Given the description of an element on the screen output the (x, y) to click on. 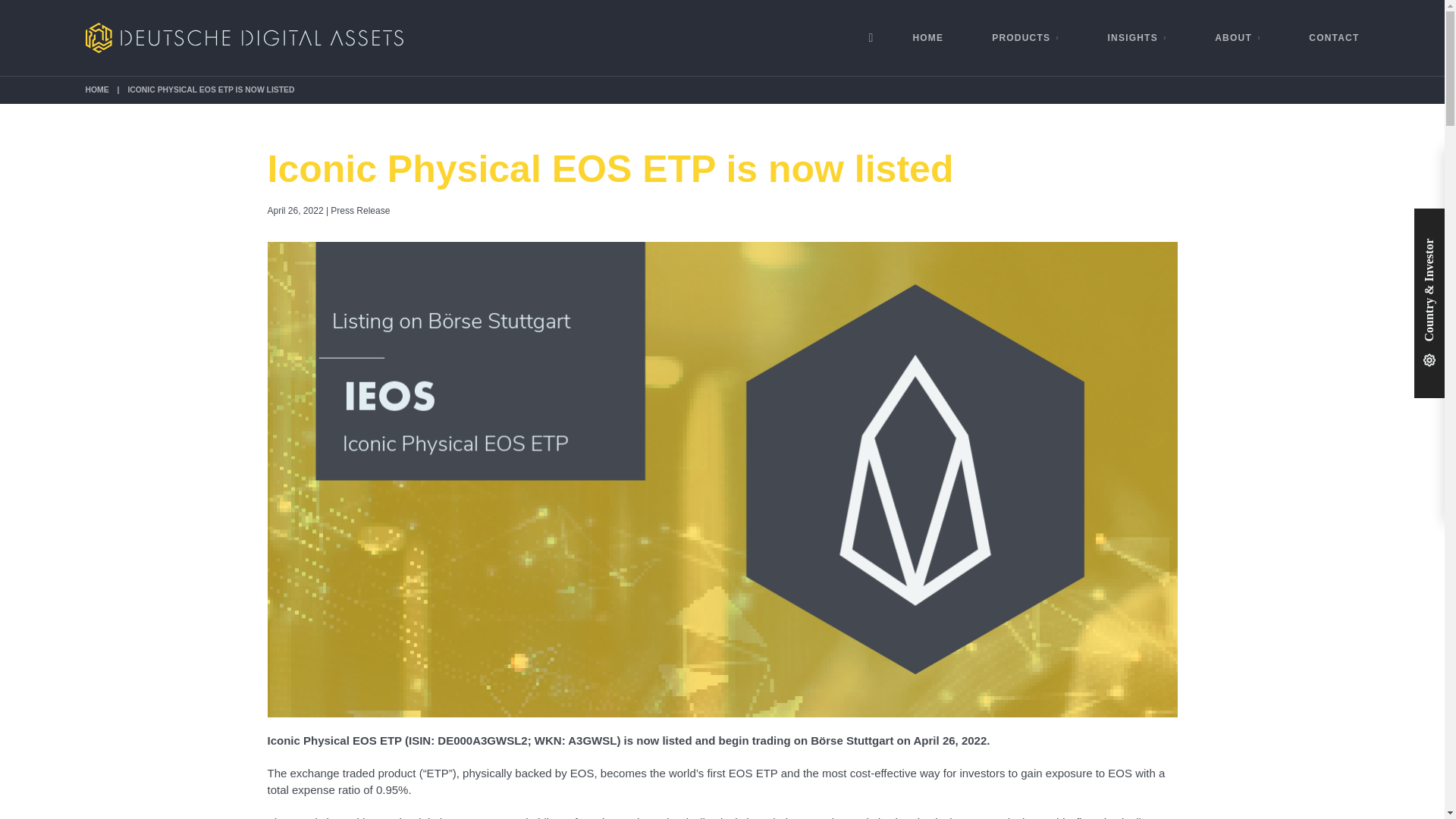
Press Release (360, 210)
ABOUT (1237, 37)
CONTACT (1321, 37)
Home (928, 37)
INSIGHTS (1137, 37)
Deutsche Digital Assets (243, 37)
HOME (928, 37)
HOME (95, 89)
Products (1025, 37)
Insights (1137, 37)
